Given the description of an element on the screen output the (x, y) to click on. 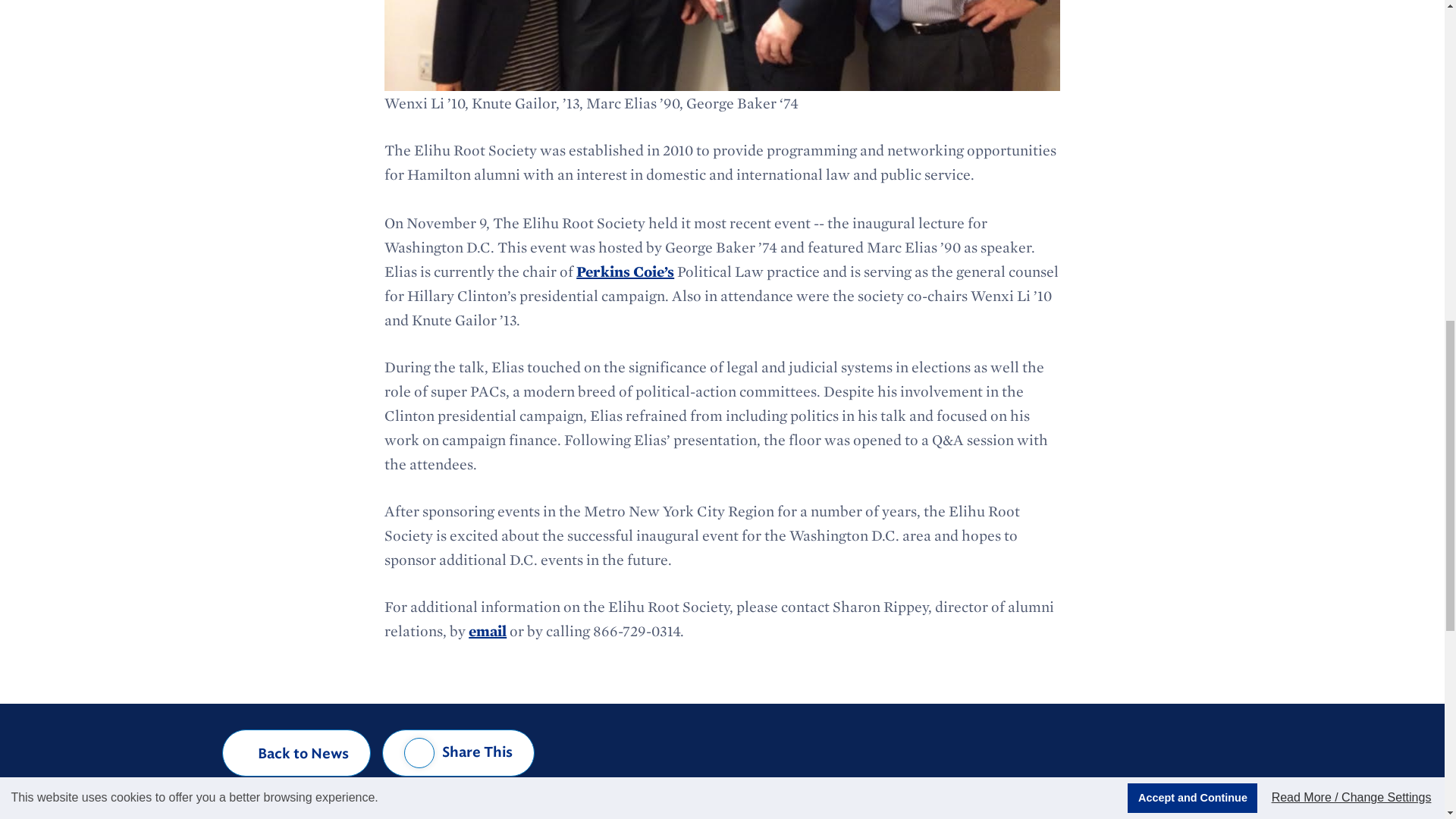
email (487, 630)
Back to News (296, 752)
Share This (457, 752)
